Given the description of an element on the screen output the (x, y) to click on. 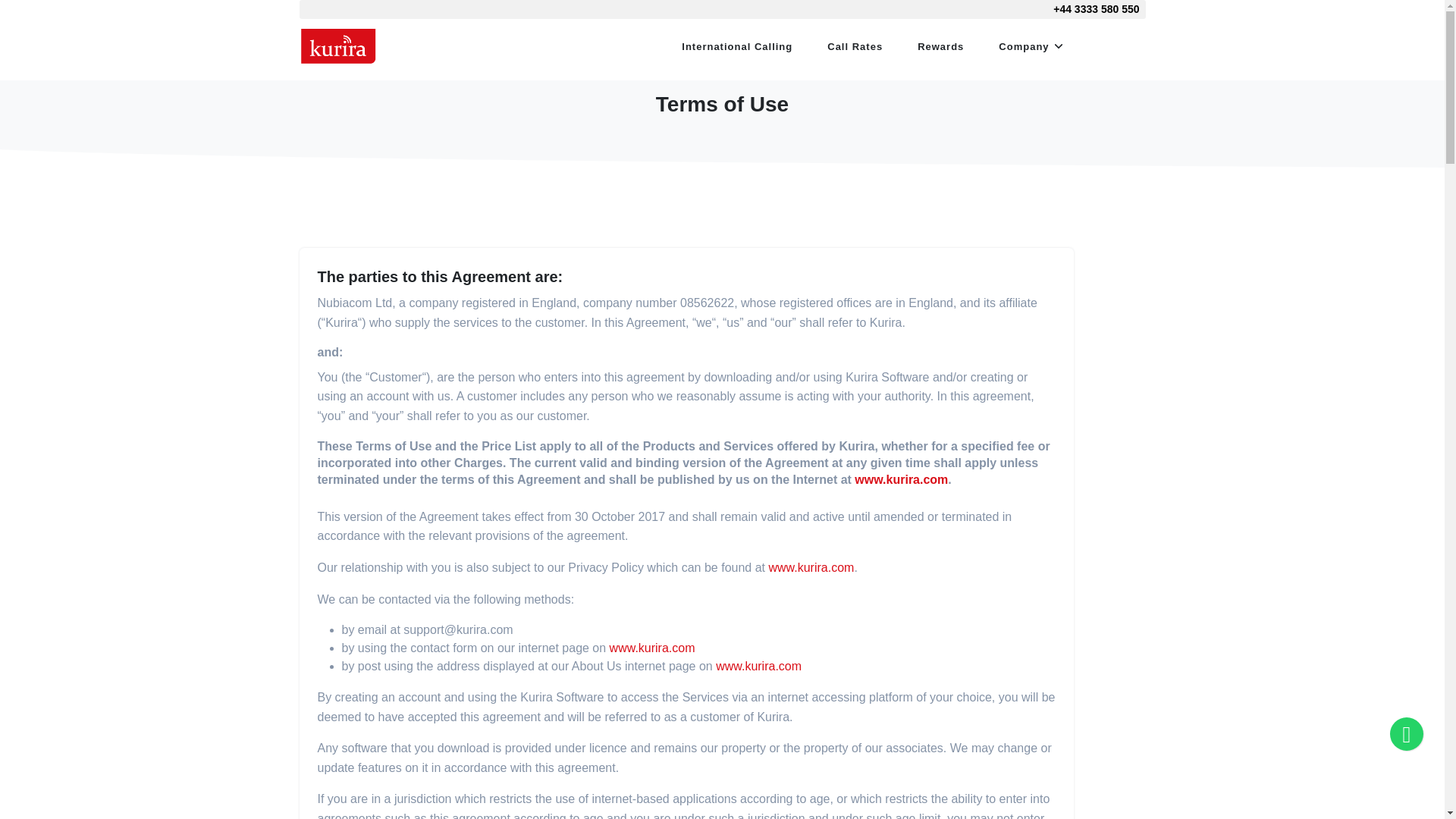
International Calling (736, 46)
Company (1023, 46)
Rewards (940, 46)
Call Rates (854, 46)
